Given the description of an element on the screen output the (x, y) to click on. 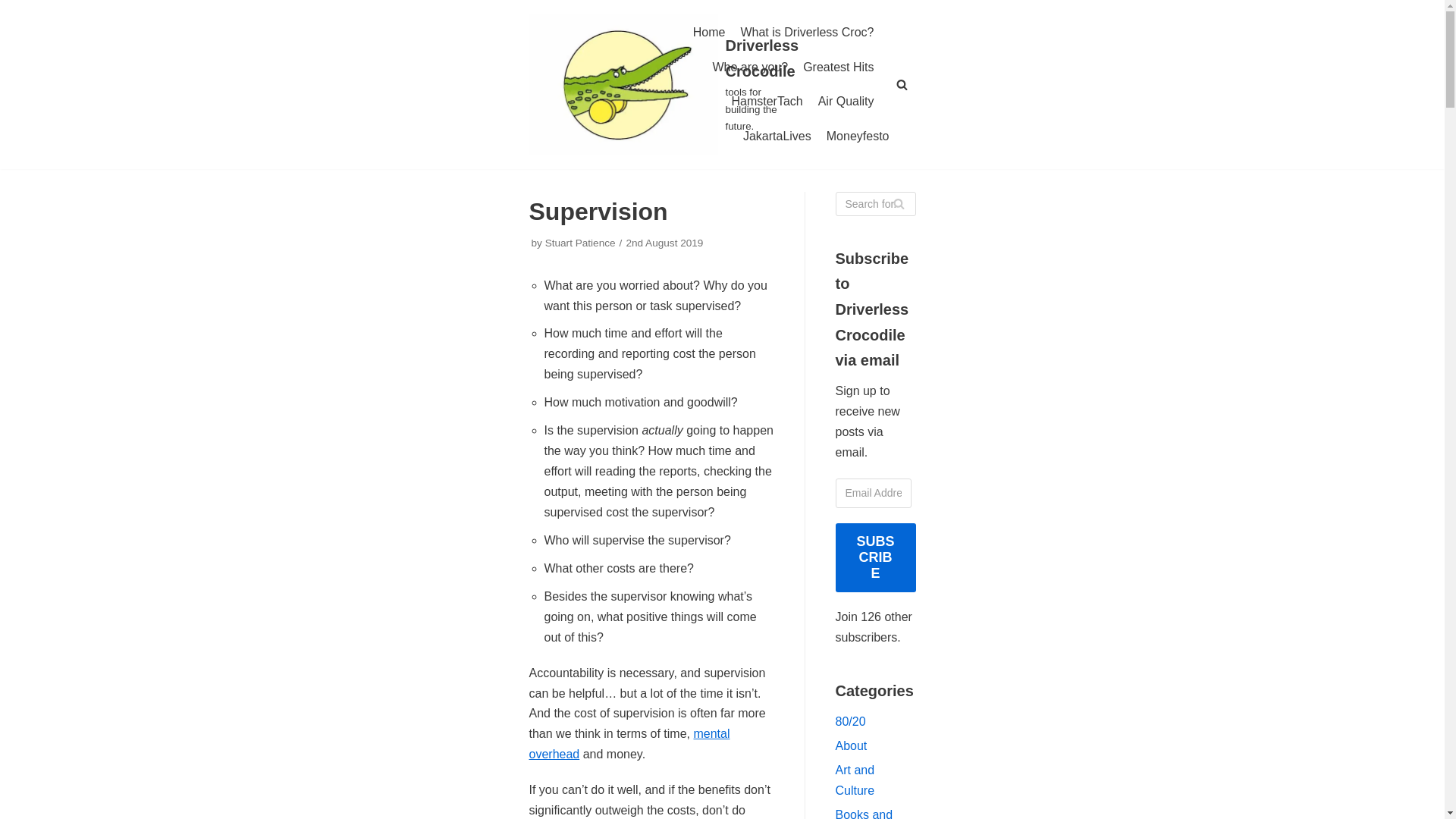
Home (709, 32)
HamsterTach (766, 101)
Stuart Patience (579, 242)
Who are you? (751, 66)
Skip to content (15, 7)
Moneyfesto (858, 136)
mental overhead (629, 743)
Posts by Stuart Patience (579, 242)
Greatest Hits (838, 66)
